Given the description of an element on the screen output the (x, y) to click on. 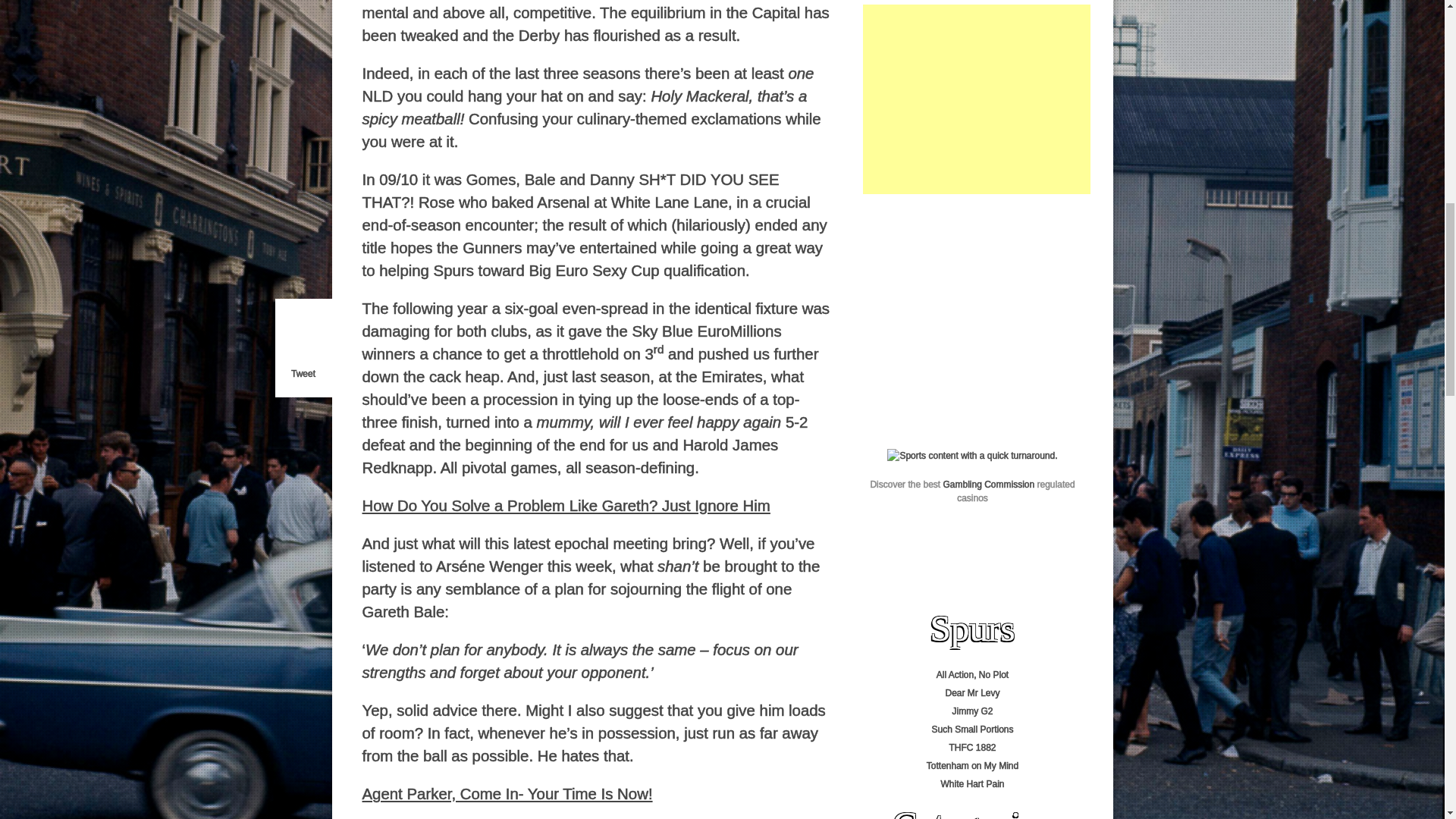
Gambling Commission (987, 484)
